Given the description of an element on the screen output the (x, y) to click on. 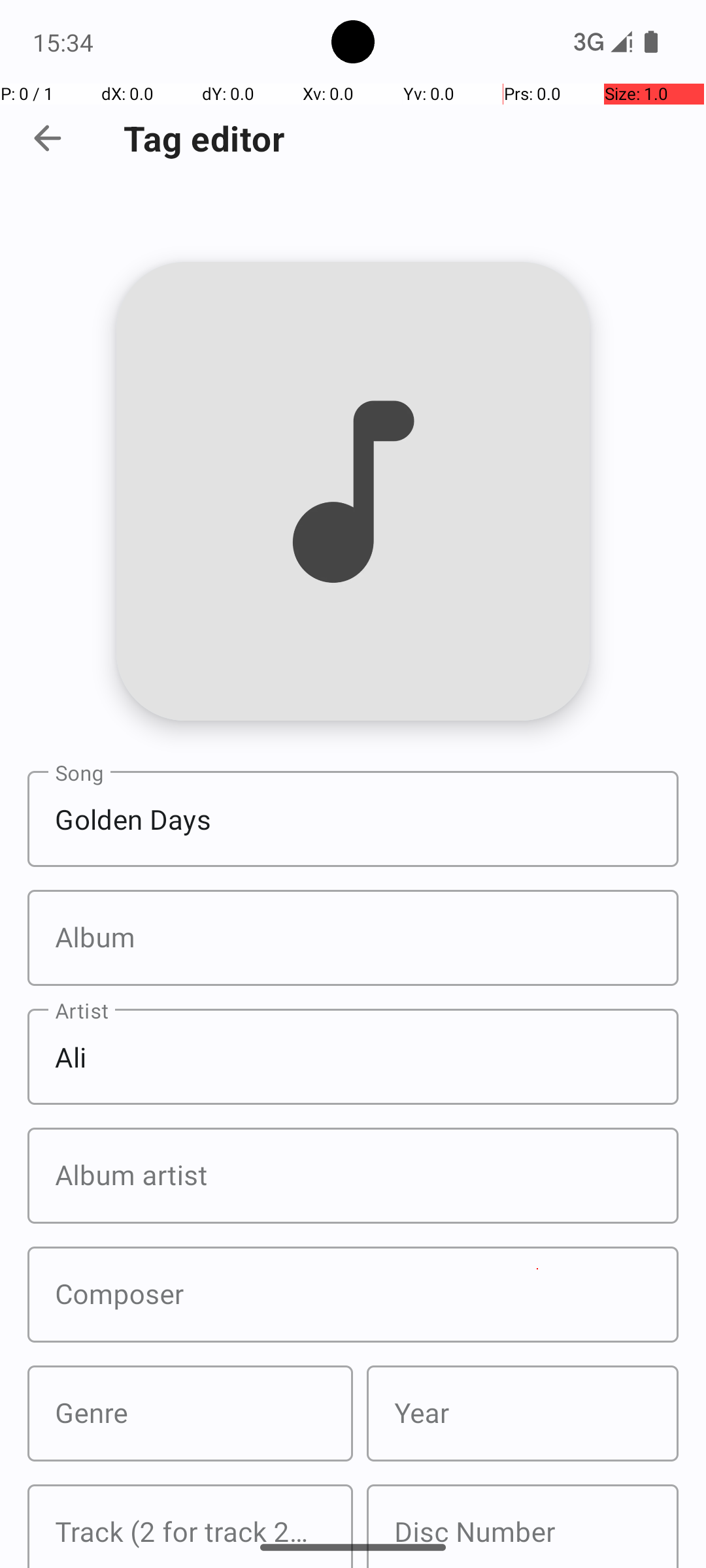
Tag editor Element type: android.widget.TextView (204, 137)
Golden Days Element type: android.widget.EditText (352, 818)
Album Element type: android.widget.EditText (352, 937)
Ali Element type: android.widget.EditText (352, 1056)
Album artist Element type: android.widget.EditText (352, 1175)
Composer Element type: android.widget.EditText (352, 1294)
Genre Element type: android.widget.EditText (190, 1413)
Year Element type: android.widget.EditText (522, 1413)
Track (2 for track 2 or 3004 for CD3 track 4) Element type: android.widget.EditText (190, 1526)
Disc Number Element type: android.widget.EditText (522, 1526)
